Given the description of an element on the screen output the (x, y) to click on. 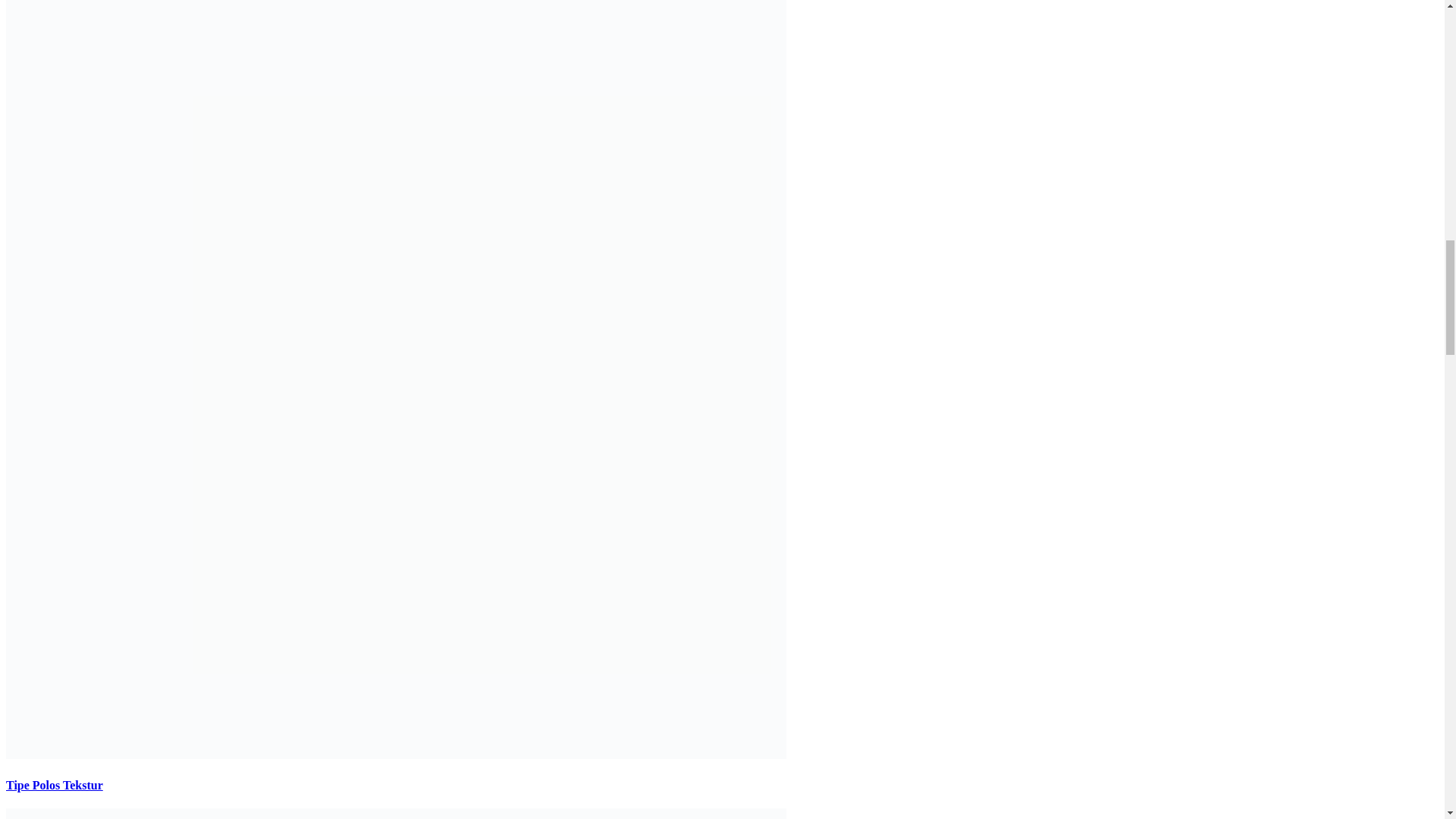
Tipe Polos Tekstur (54, 784)
